Given the description of an element on the screen output the (x, y) to click on. 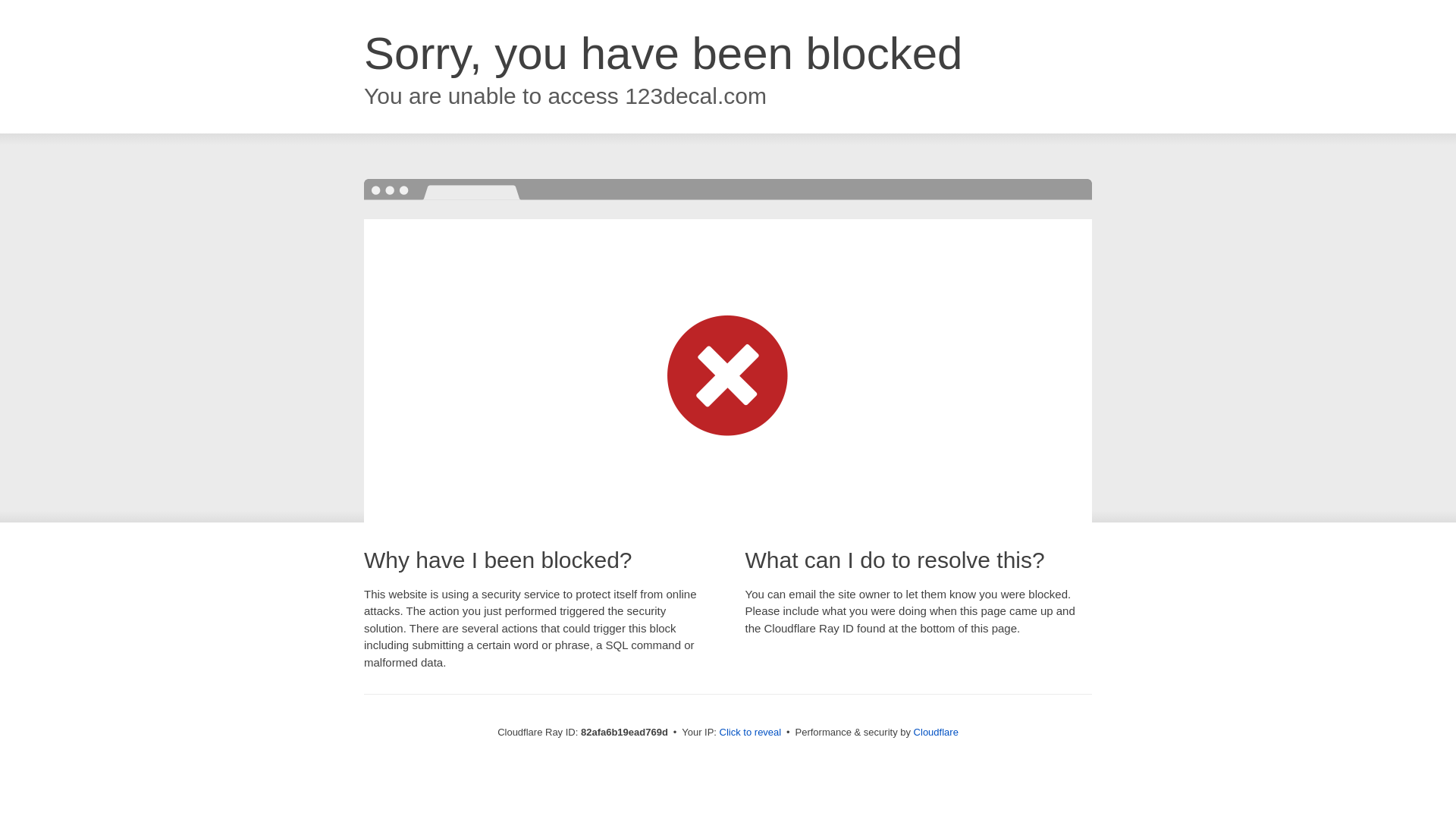
Cloudflare Element type: text (935, 731)
Click to reveal Element type: text (750, 732)
